Given the description of an element on the screen output the (x, y) to click on. 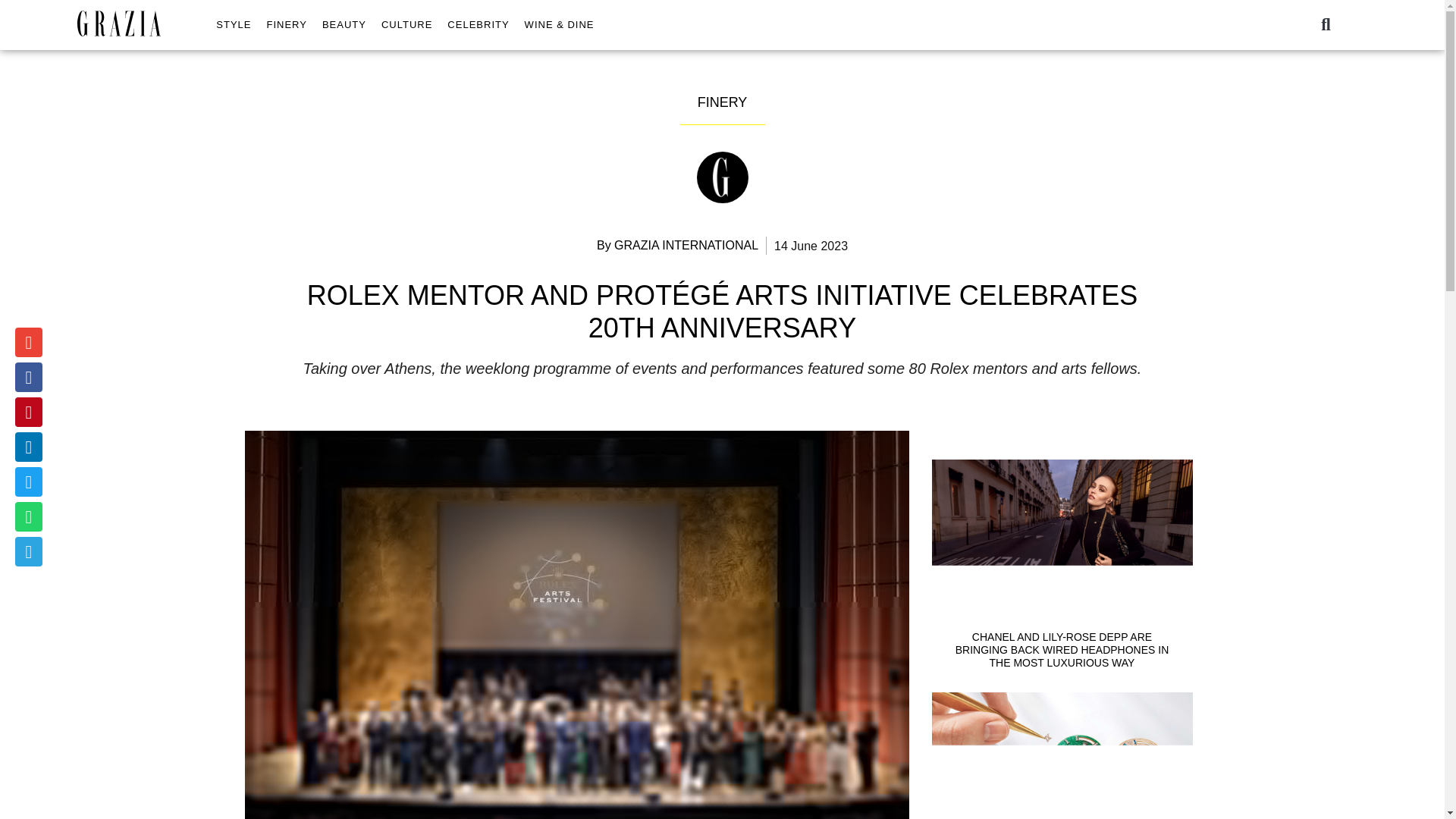
FINERY (722, 102)
STYLE (233, 24)
CULTURE (406, 24)
FINERY (286, 24)
BEAUTY (344, 24)
CELEBRITY (477, 24)
